Given the description of an element on the screen output the (x, y) to click on. 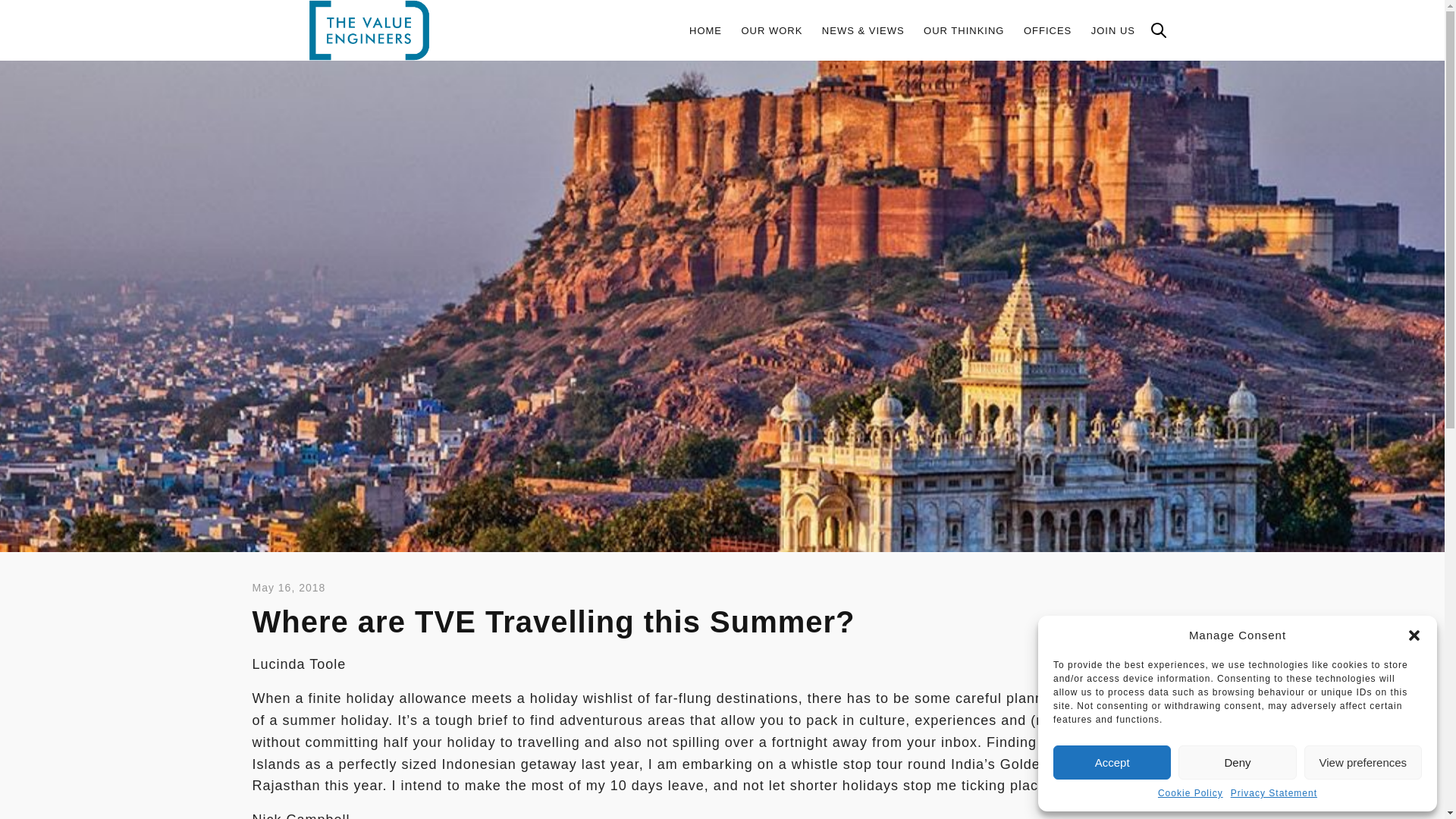
Privacy Statement (1273, 793)
OUR WORK (771, 30)
Accept (1111, 762)
OUR THINKING (963, 30)
Cookie Policy (1190, 793)
View preferences (1363, 762)
HOME (705, 30)
Deny (1236, 762)
JOIN US (1112, 30)
OFFICES (1047, 30)
